Given the description of an element on the screen output the (x, y) to click on. 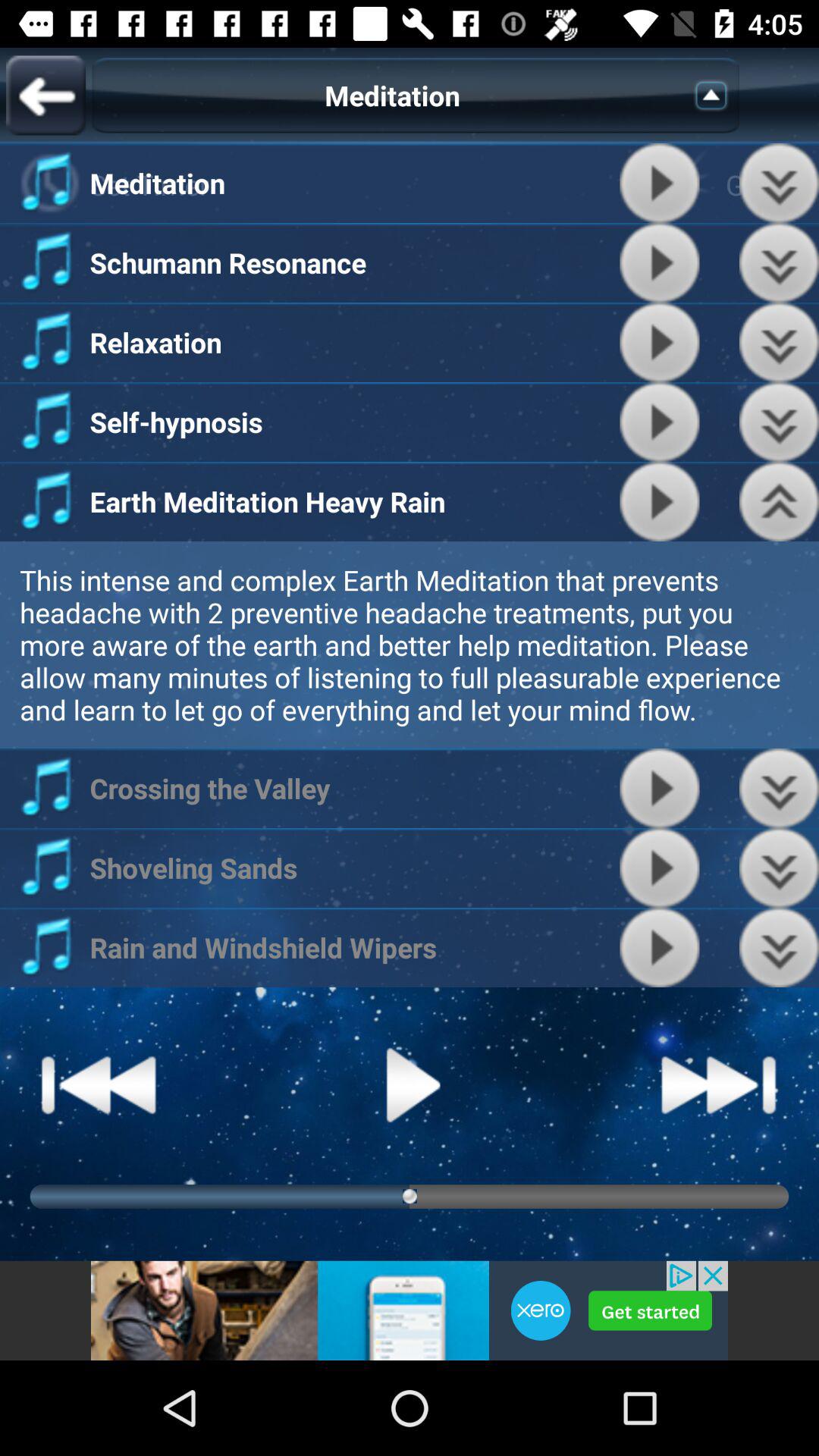
play (409, 1084)
